Given the description of an element on the screen output the (x, y) to click on. 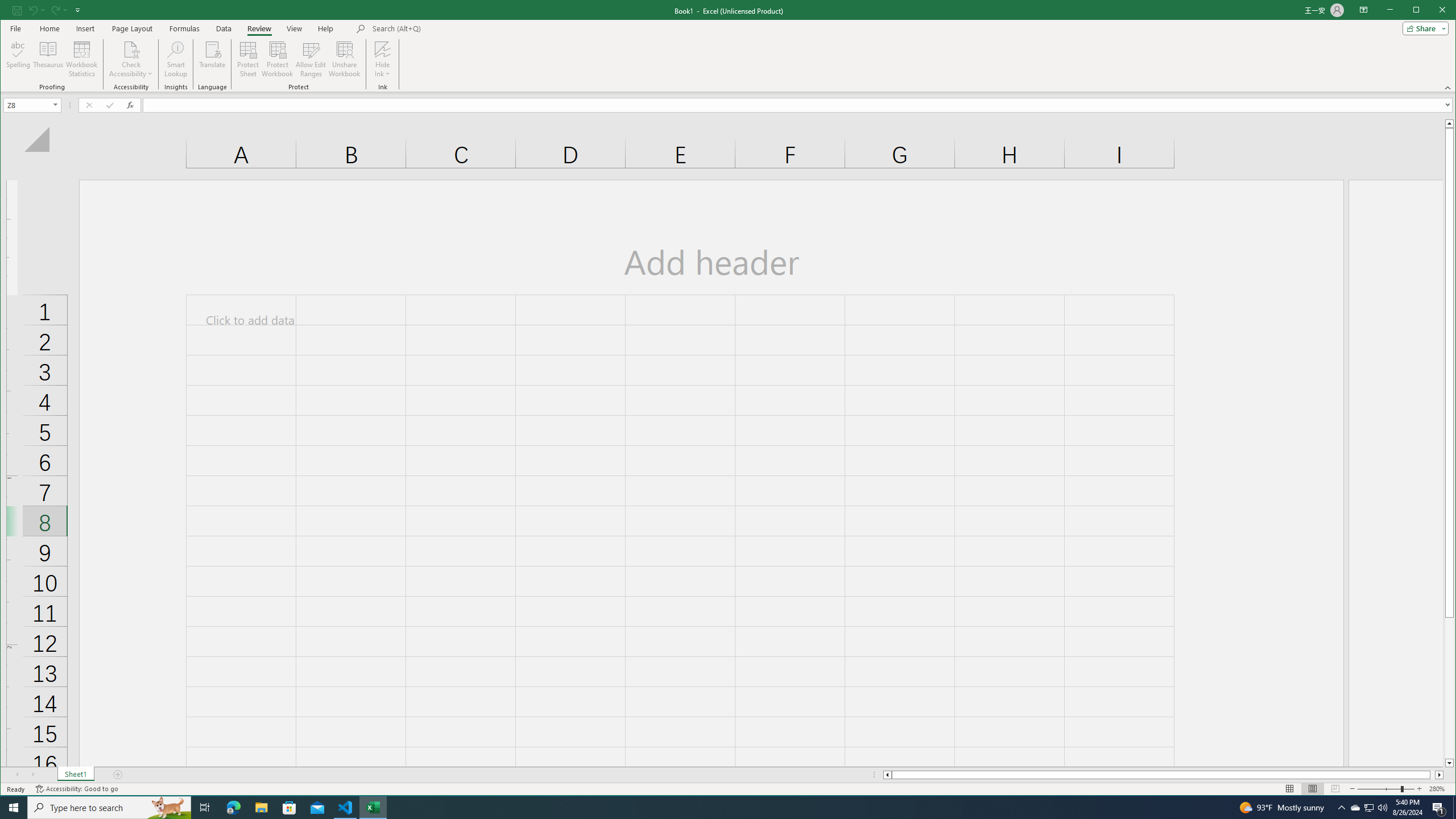
Page Break Preview (1334, 788)
Quick Access Toolbar (46, 9)
File Tab (15, 27)
Excel - 1 running window (373, 807)
Protect Workbook... (277, 59)
Save (16, 9)
Microsoft Store (289, 807)
Name Box (32, 105)
Minimize (1419, 11)
Add Sheet (118, 774)
